Given the description of an element on the screen output the (x, y) to click on. 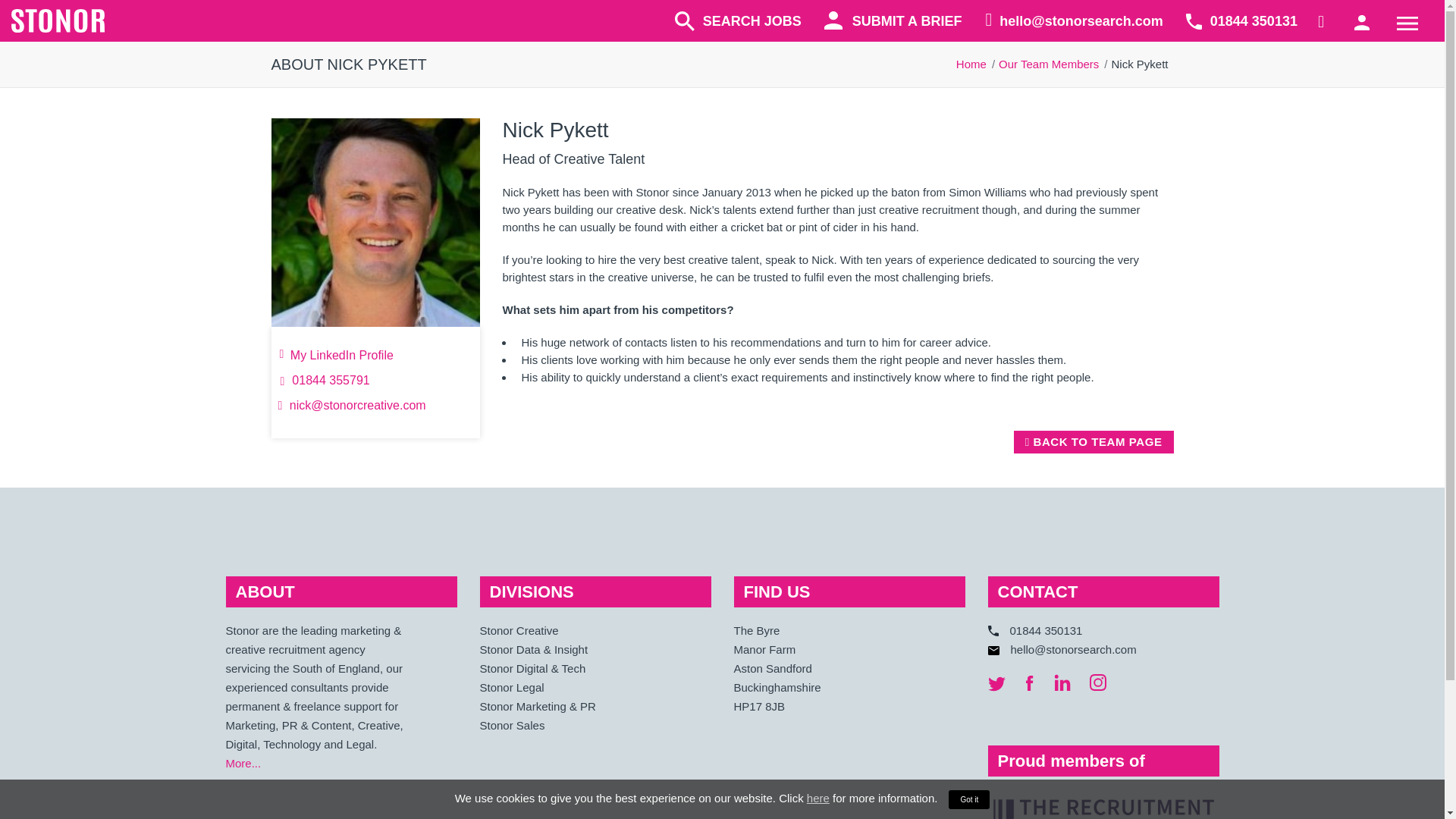
SUBMIT A BRIEF (893, 21)
Nick Pykett (375, 221)
here (819, 816)
Got it (972, 814)
SEARCH JOBS (738, 22)
